Given the description of an element on the screen output the (x, y) to click on. 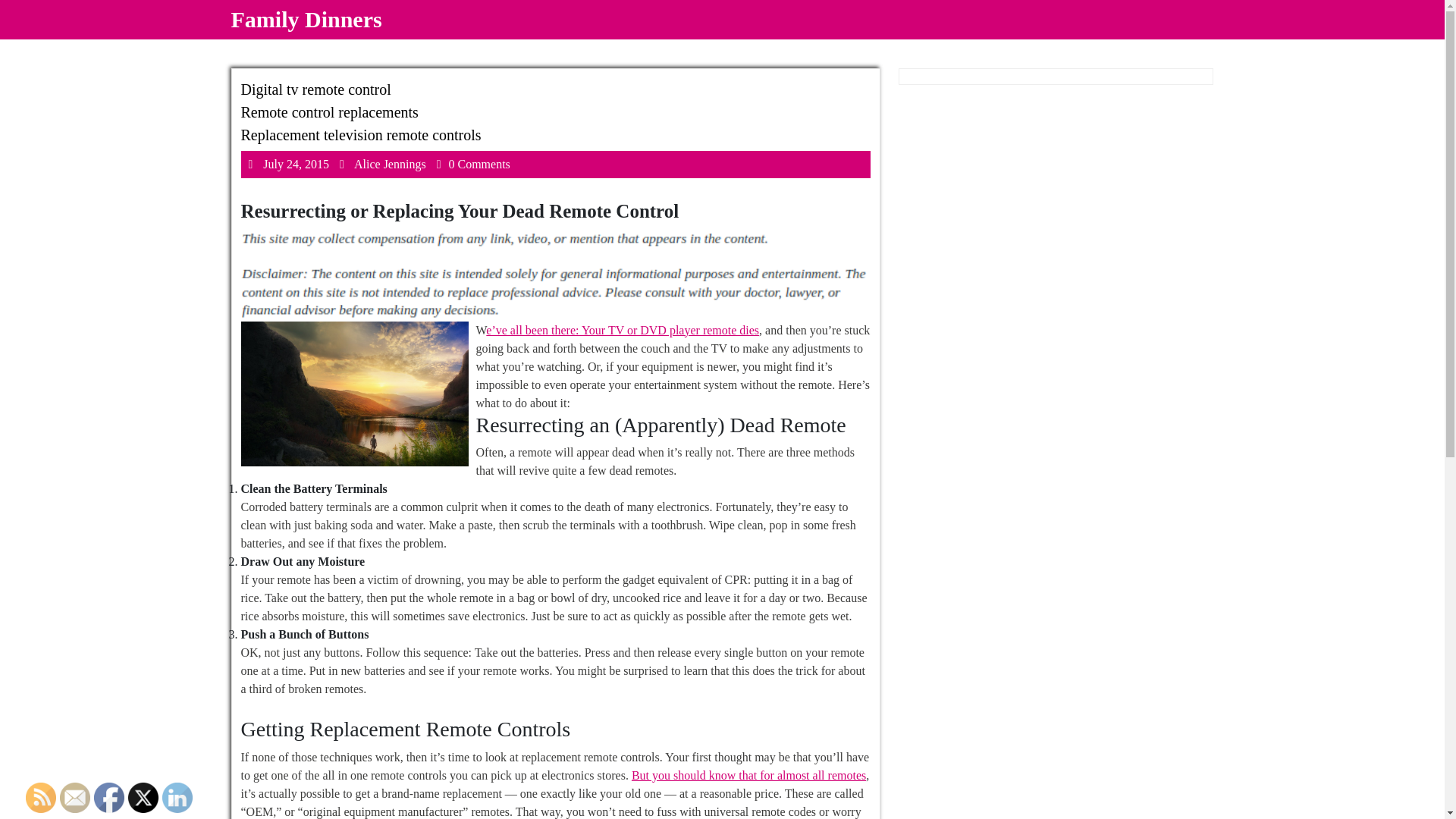
More information on Dvd remote controls (622, 329)
Family Dinners (305, 18)
Follow by Email (74, 797)
But you should know that for almost all remotes (748, 775)
Digital tv remote control (316, 89)
RSS (41, 797)
Find more (296, 164)
Remote control replacements (748, 775)
Facebook (330, 112)
